Given the description of an element on the screen output the (x, y) to click on. 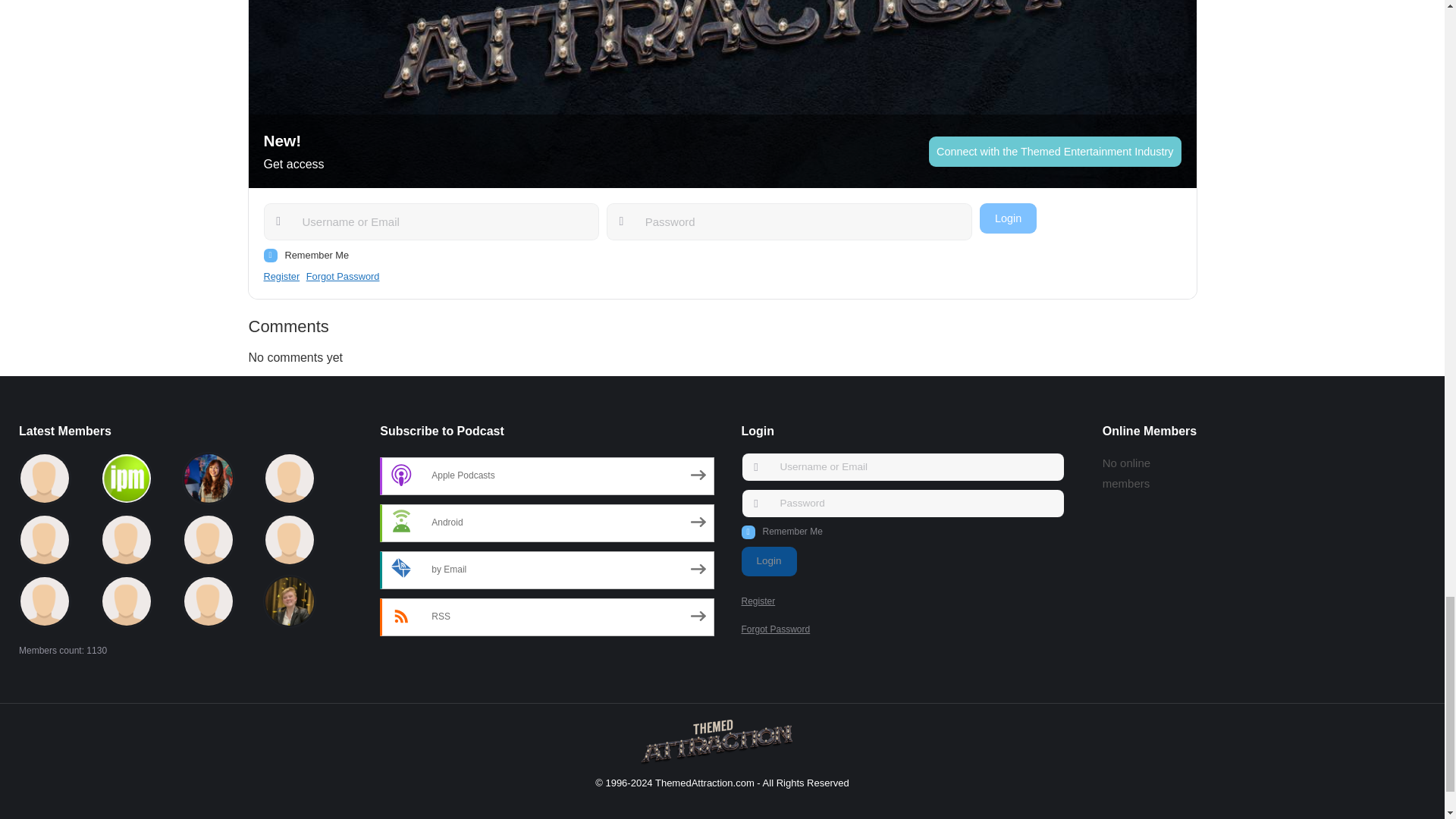
Subscribe by Email (546, 569)
Subscribe on Android (546, 522)
Subscribe on Apple Podcasts (546, 475)
Subscribe via RSS (546, 616)
